Given the description of an element on the screen output the (x, y) to click on. 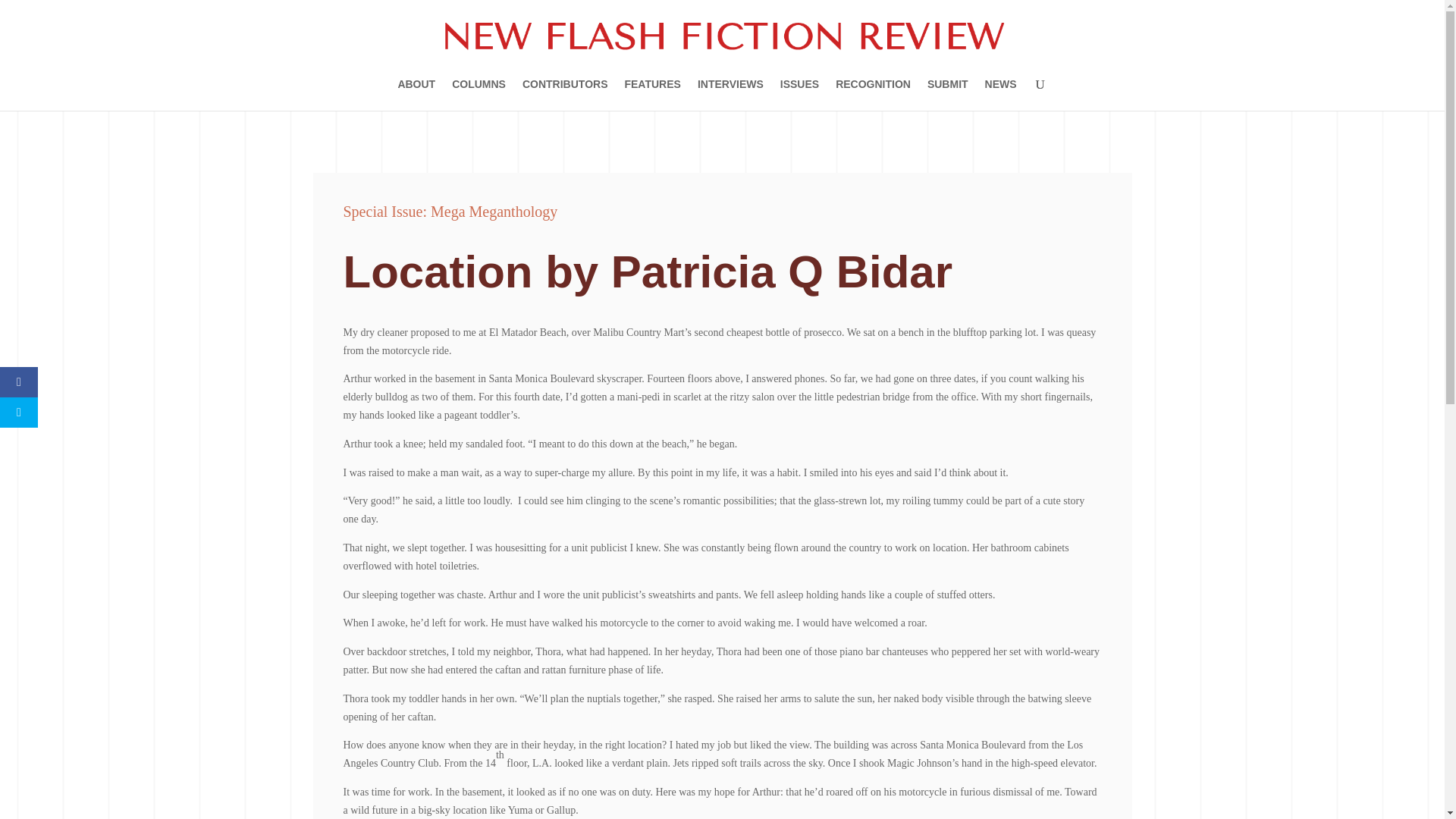
NEWS (1000, 94)
ABOUT (416, 94)
SUBMIT (947, 94)
ISSUES (799, 94)
INTERVIEWS (729, 94)
FEATURES (651, 94)
COLUMNS (478, 94)
CONTRIBUTORS (565, 94)
RECOGNITION (873, 94)
Special Issue: Mega Meganthology (449, 211)
